Given the description of an element on the screen output the (x, y) to click on. 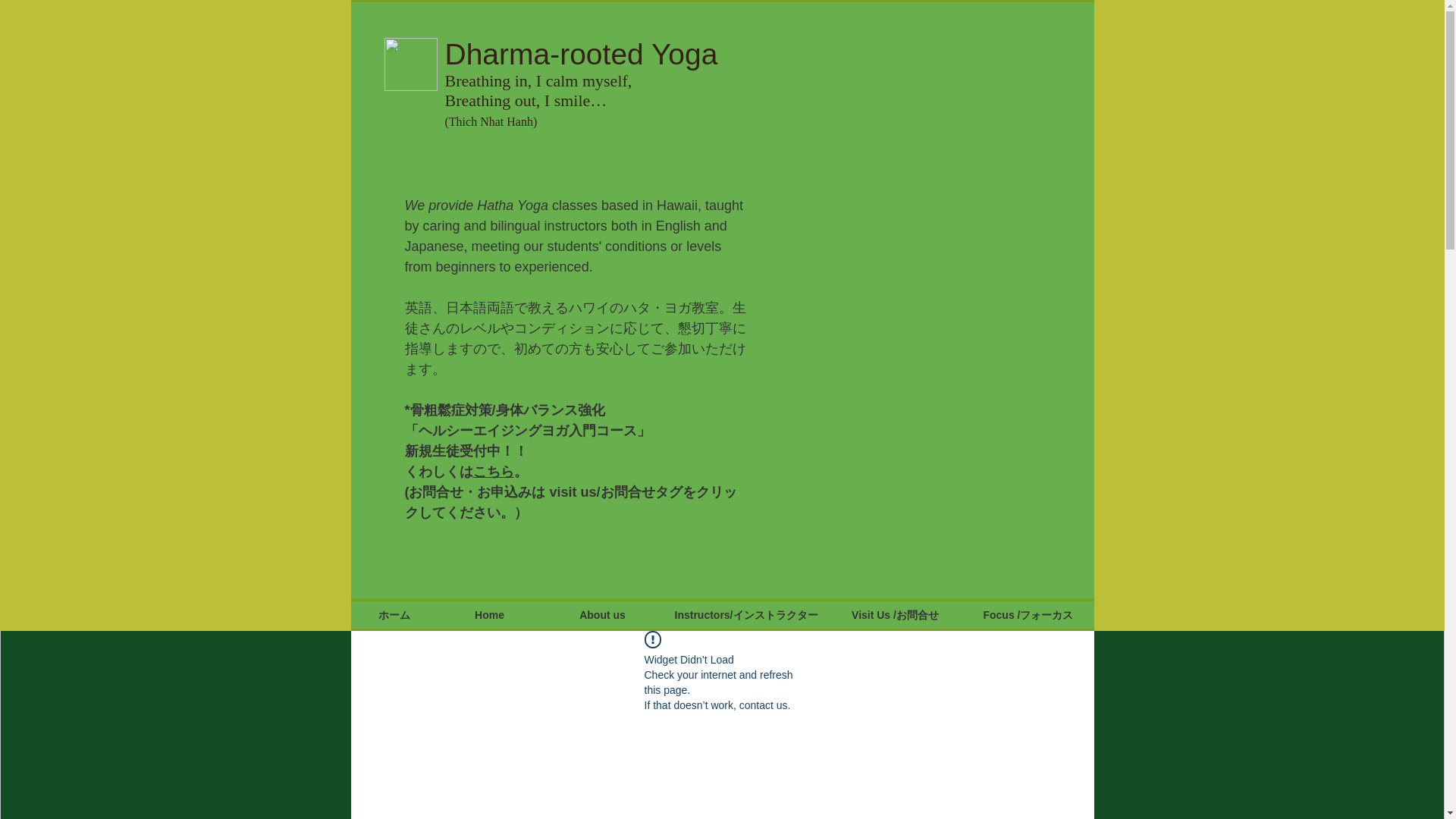
! (653, 639)
About us (601, 614)
Dharma-rooted Yoga (580, 53)
Home (488, 614)
